Given the description of an element on the screen output the (x, y) to click on. 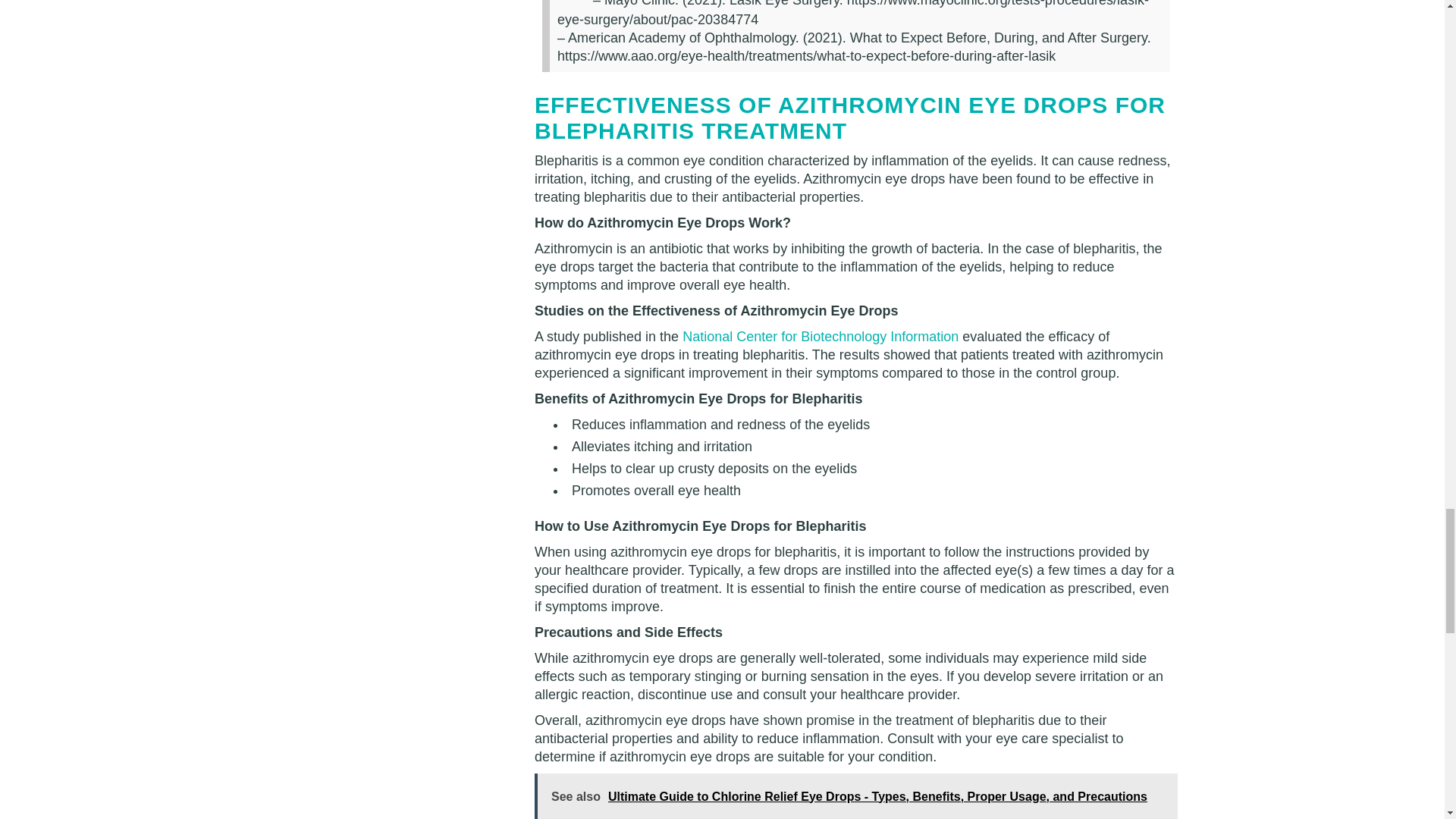
National Center for Biotechnology Information (820, 336)
